Given the description of an element on the screen output the (x, y) to click on. 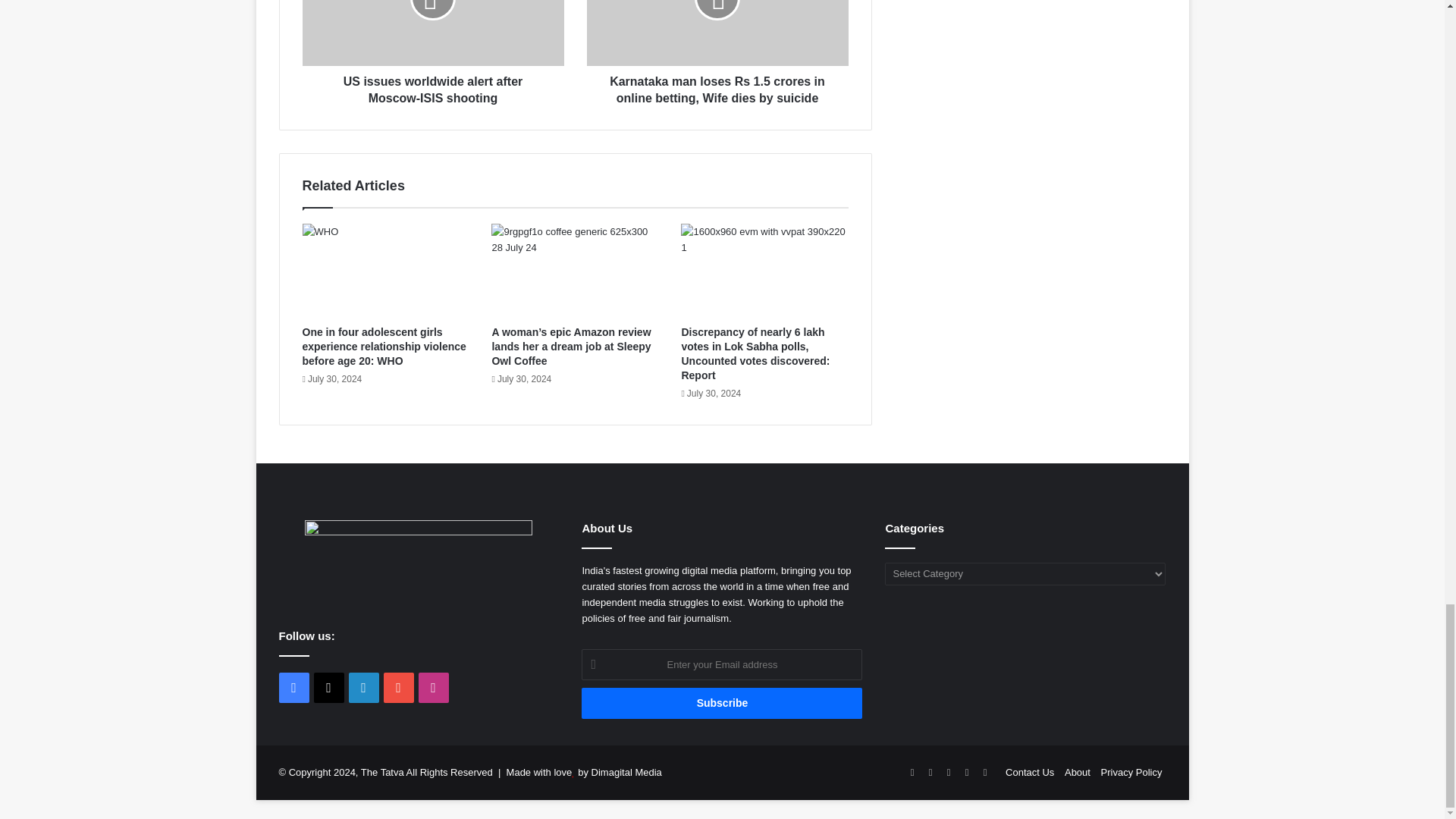
Subscribe (720, 703)
